Given the description of an element on the screen output the (x, y) to click on. 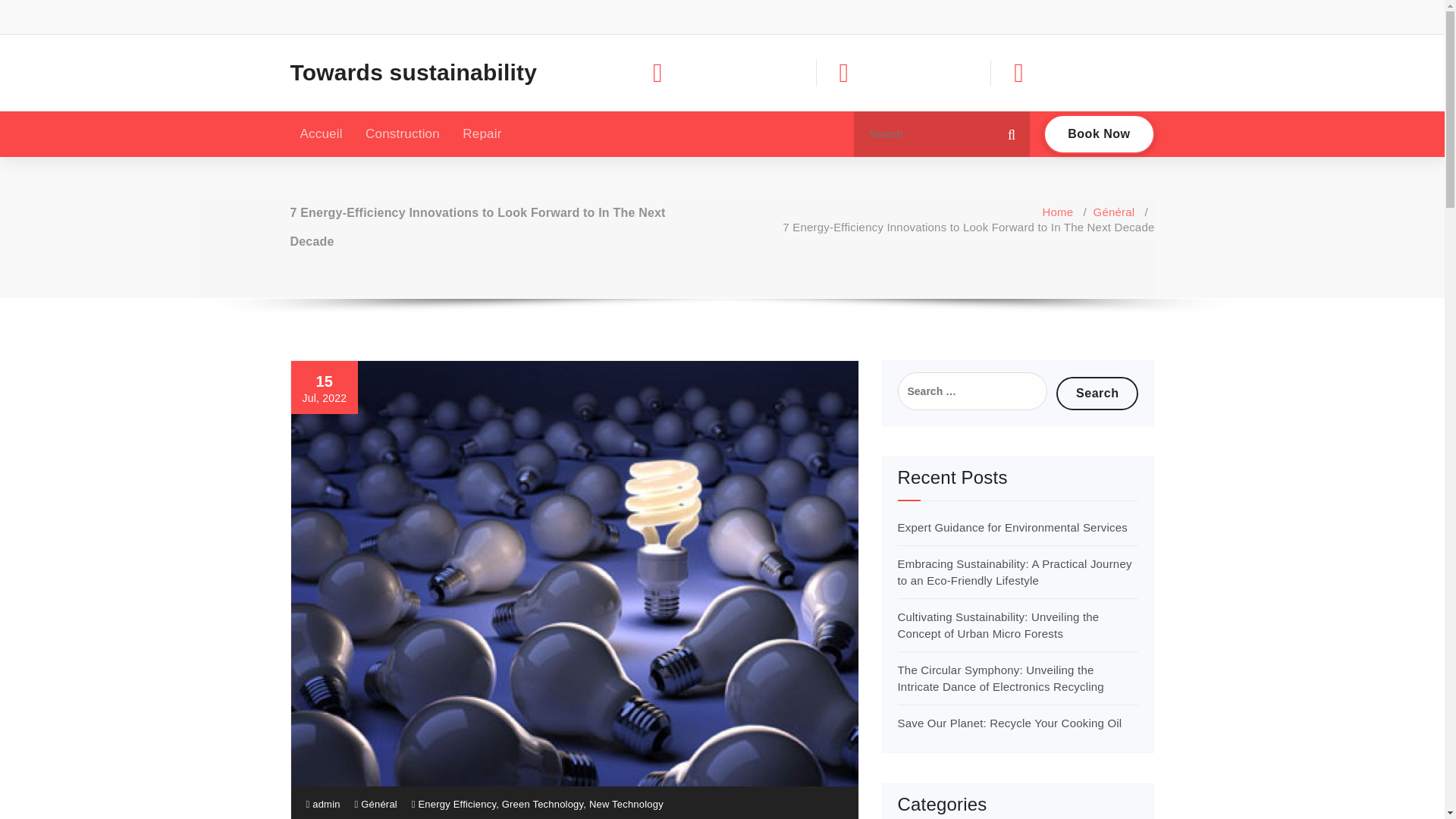
New Technology (626, 803)
admin (322, 803)
Repair (481, 134)
Book Now (1098, 133)
Home (1057, 211)
Energy Efficiency (457, 803)
Search (1097, 392)
Search (1097, 392)
Save Our Planet: Recycle Your Cooking Oil (1010, 722)
